Given the description of an element on the screen output the (x, y) to click on. 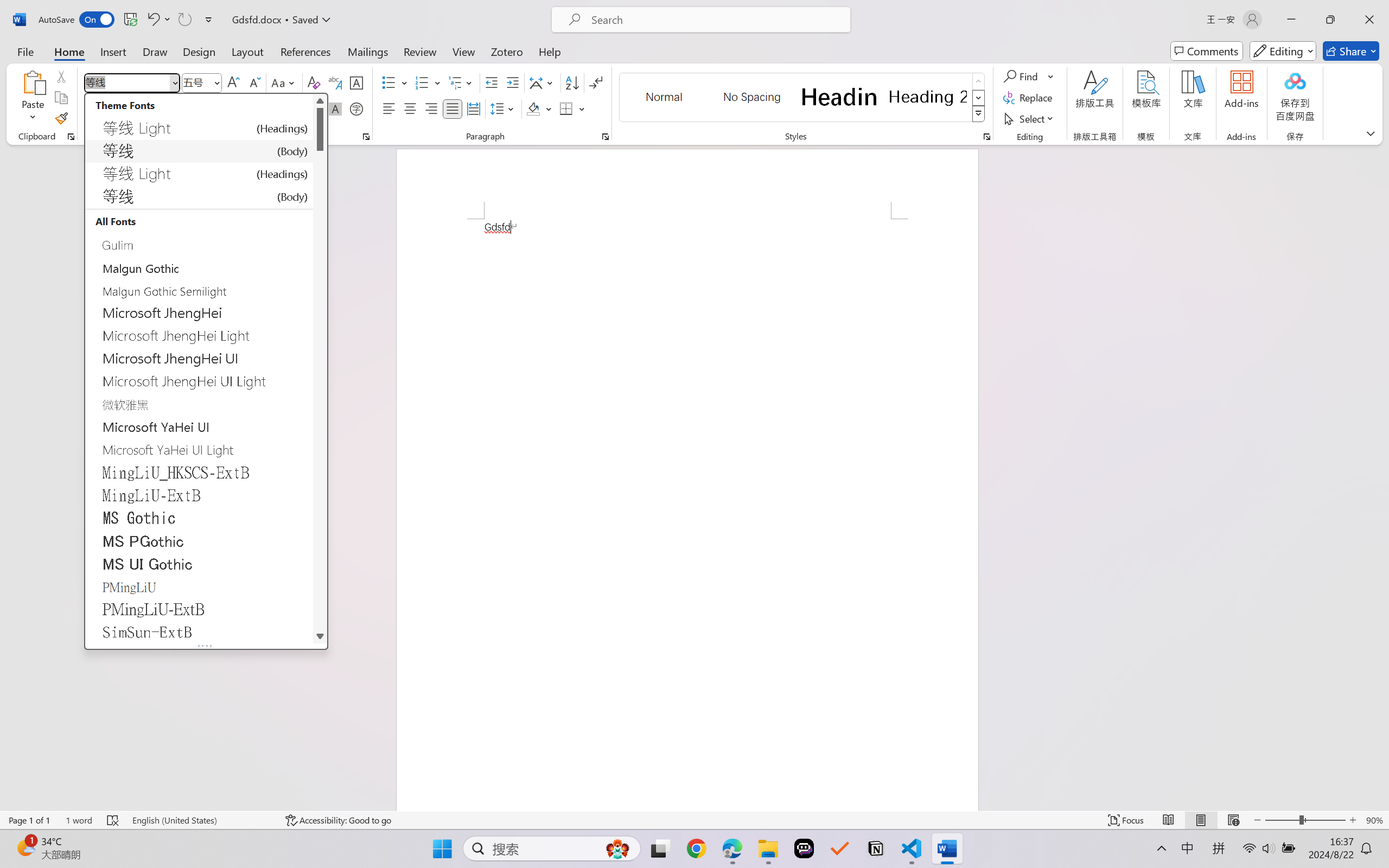
Sort... (571, 82)
Increase Indent (512, 82)
Gulim (198, 244)
Microsoft JhengHei Light (198, 335)
Show/Hide Editing Marks (595, 82)
